Given the description of an element on the screen output the (x, y) to click on. 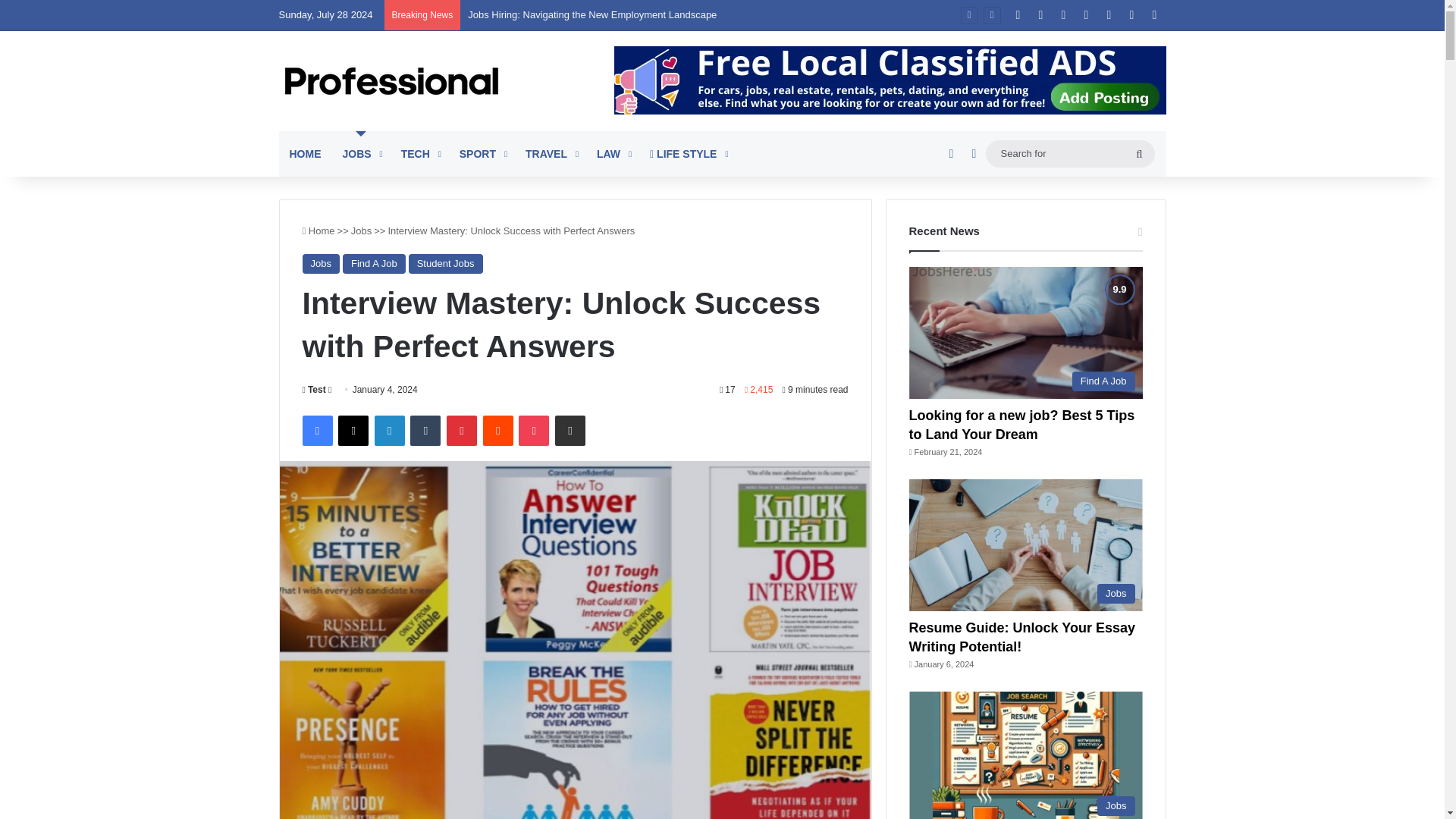
HOME (305, 153)
Tumblr (425, 430)
Test (312, 389)
Professional MEDIA (391, 80)
Pinterest (461, 430)
LAW (612, 153)
SPORT (481, 153)
Find A Job (374, 263)
Student Jobs (446, 263)
LIFE STYLE (687, 153)
Search for (1069, 153)
Jobs (360, 230)
Home (317, 230)
Search for (1139, 153)
Jobs Hiring: Navigating the New Employment Landscape (591, 14)
